Given the description of an element on the screen output the (x, y) to click on. 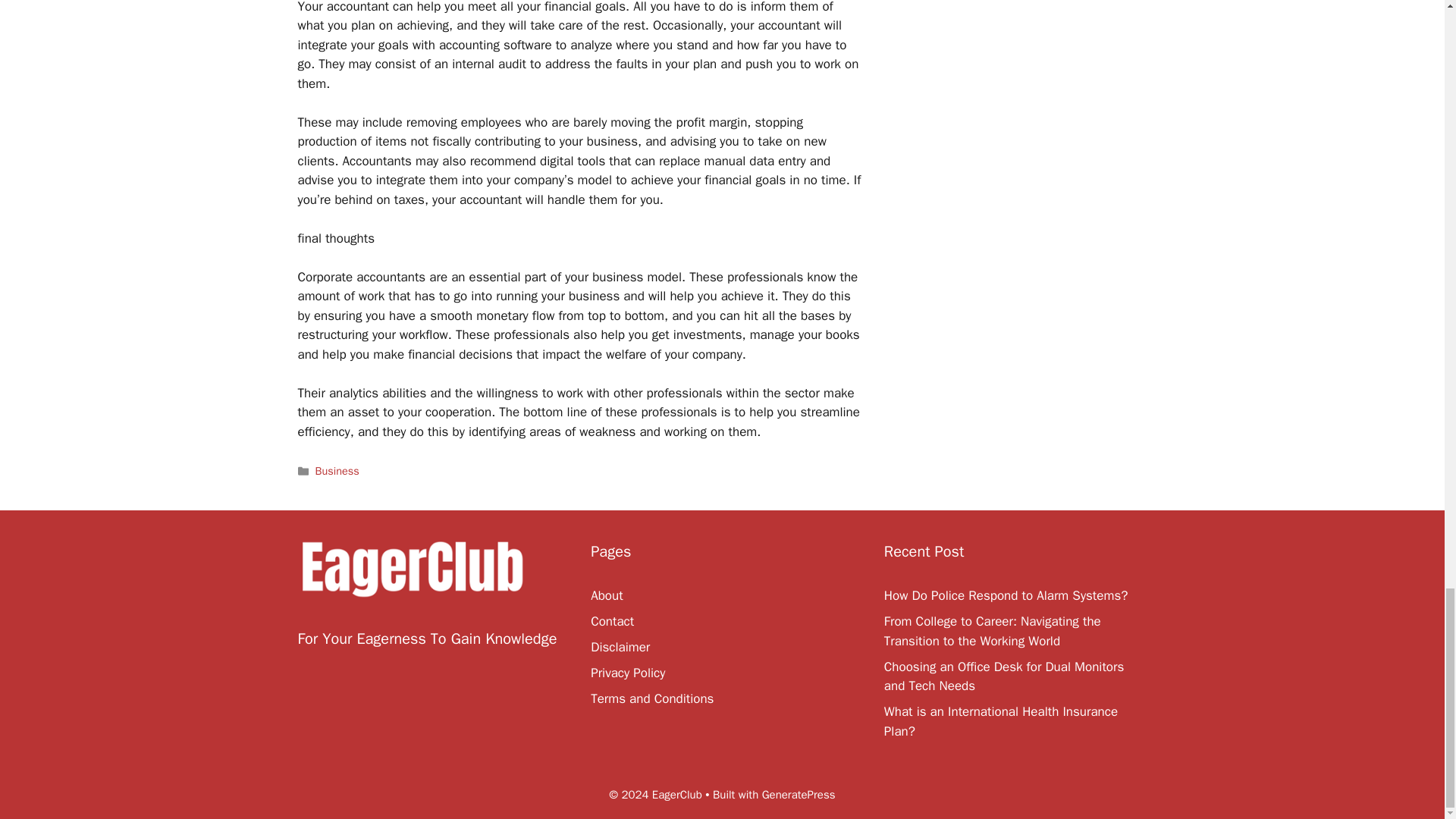
Business (337, 470)
